Given the description of an element on the screen output the (x, y) to click on. 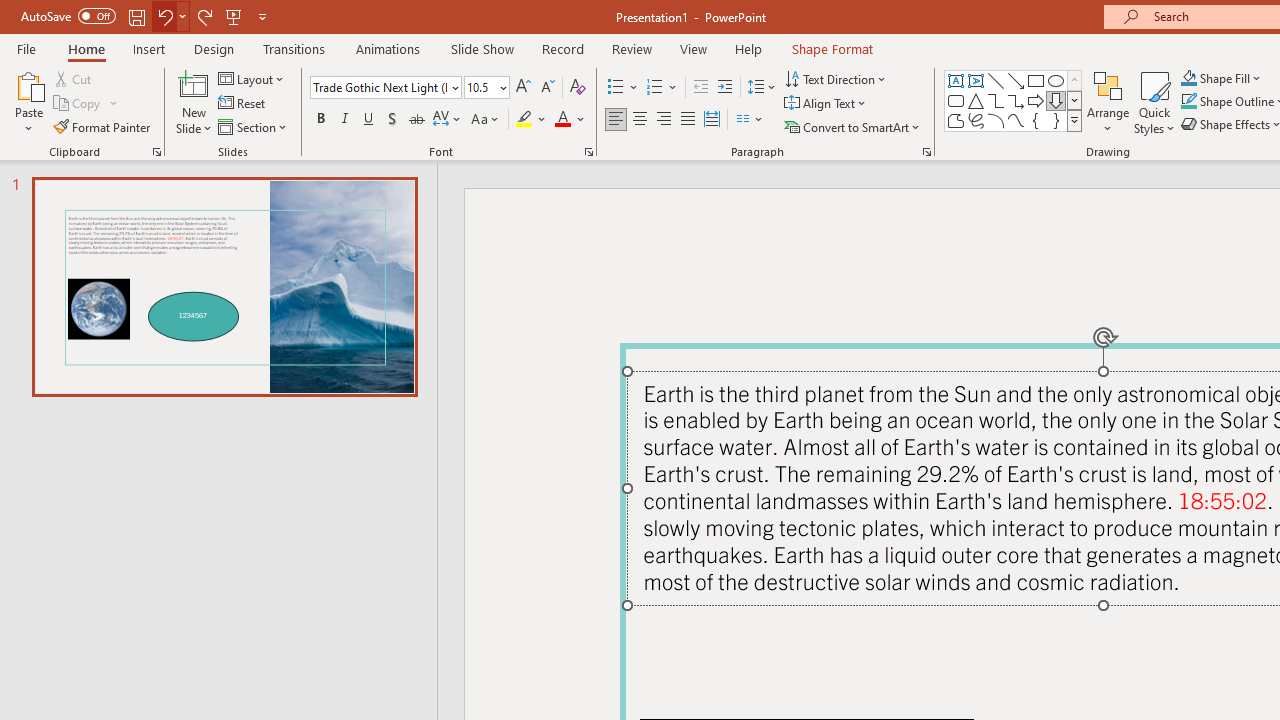
Shape Outline Teal, Accent 1 (1188, 101)
